Given the description of an element on the screen output the (x, y) to click on. 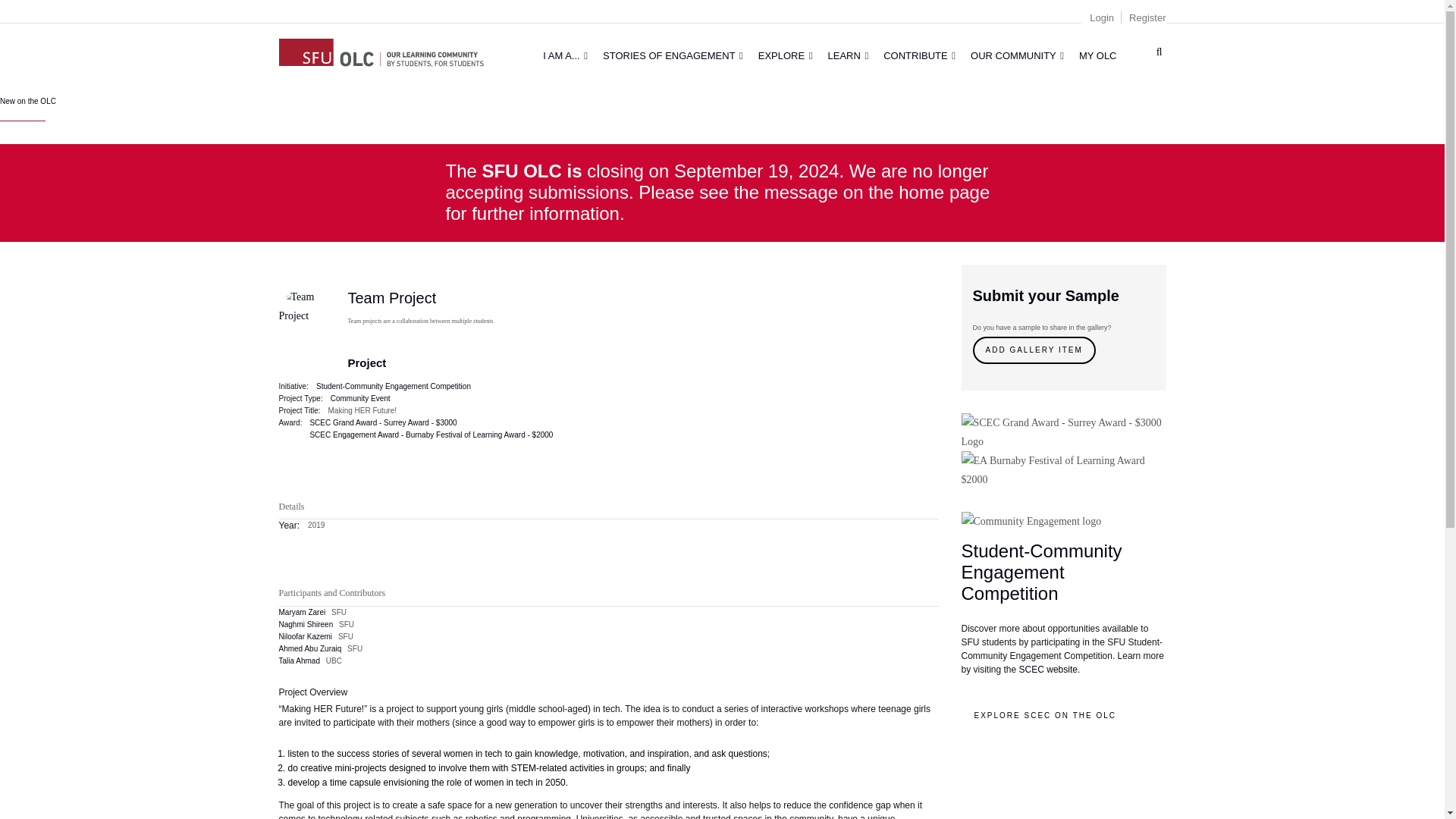
LEARN (848, 55)
Home (381, 50)
Register (1147, 17)
STORIES OF ENGAGEMENT (673, 55)
CONTRIBUTE (919, 55)
Login (1101, 17)
I AM A... (565, 55)
OUR COMMUNITY (1016, 55)
EXPLORE (786, 55)
